Given the description of an element on the screen output the (x, y) to click on. 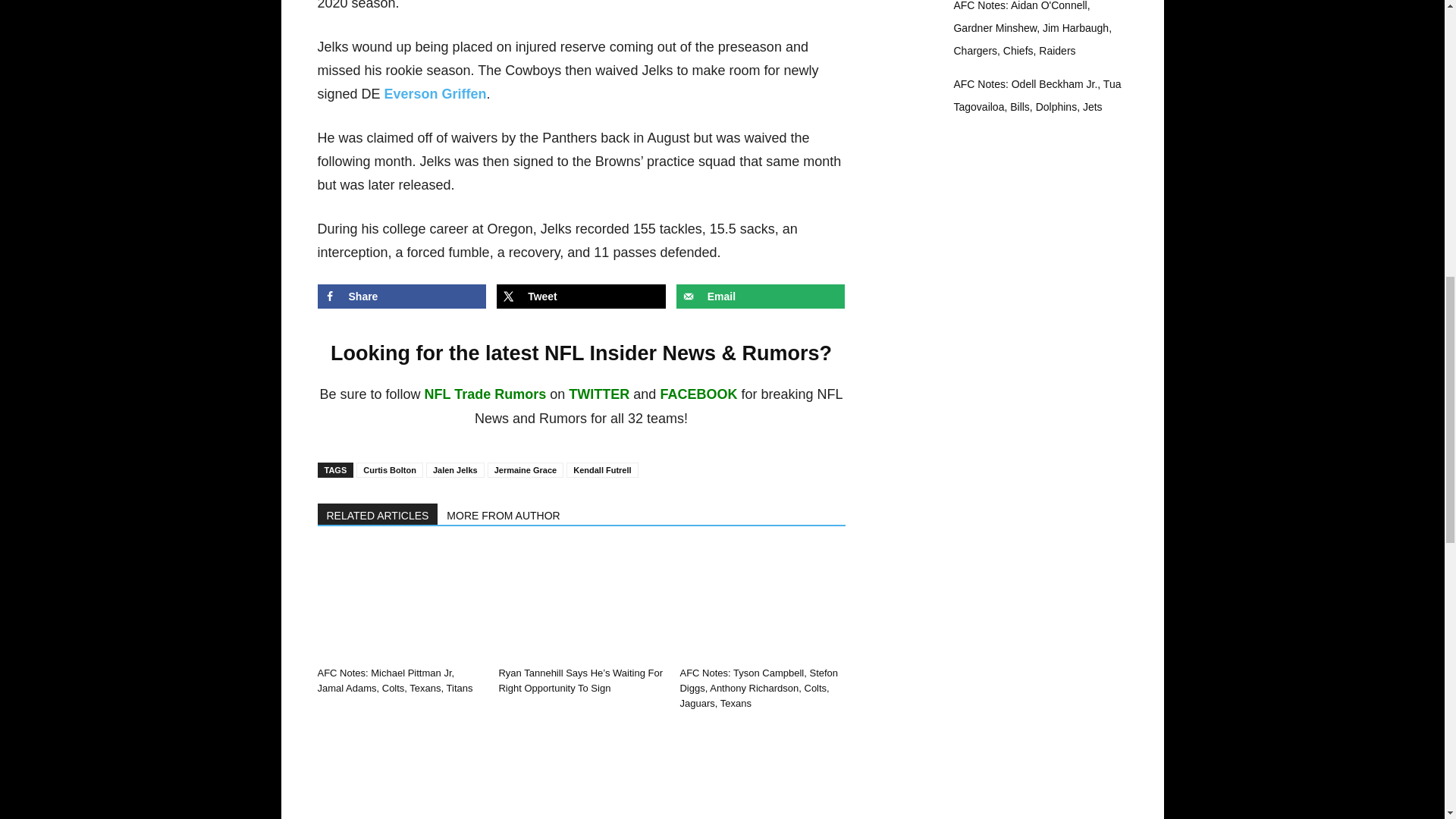
Share on Facebook (401, 296)
Send over email (761, 296)
Share on X (580, 296)
